Given the description of an element on the screen output the (x, y) to click on. 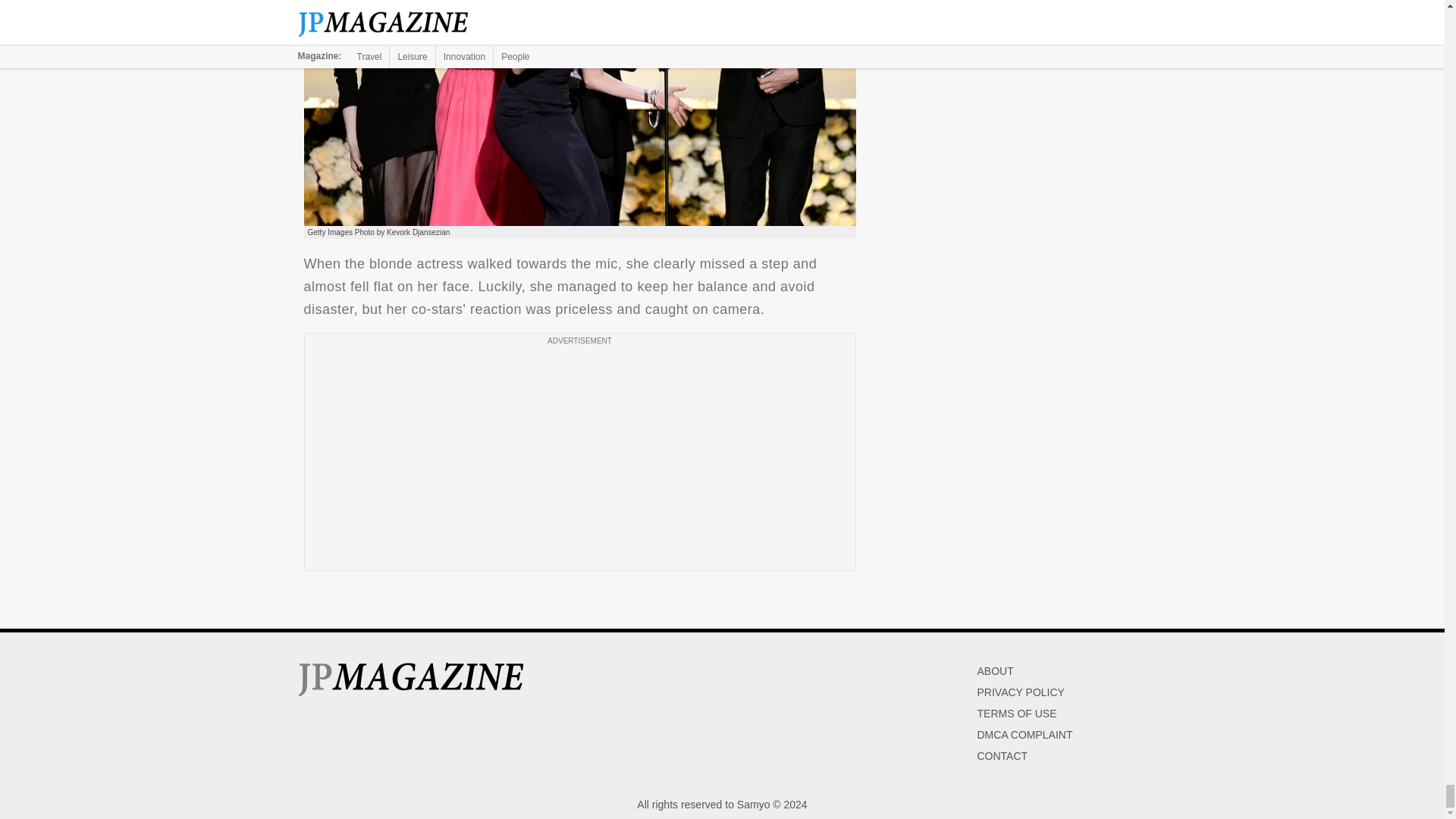
CONTACT (1001, 756)
DMCA COMPLAINT (1023, 734)
PRIVACY POLICY (1020, 692)
TERMS OF USE (1016, 713)
ABOUT (994, 671)
